Given the description of an element on the screen output the (x, y) to click on. 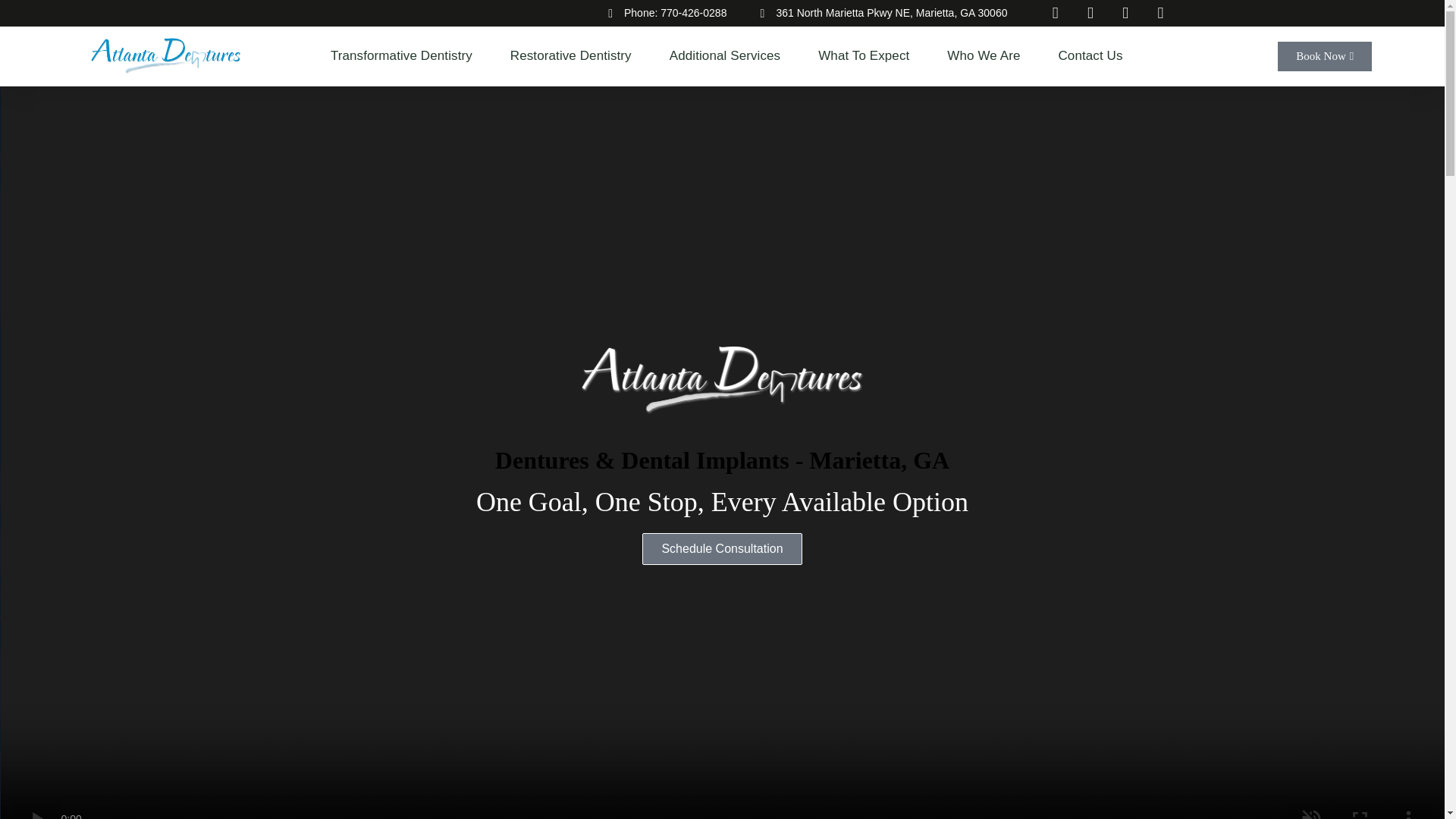
Transformative Dentistry (405, 55)
361 North Marietta Pkwy NE, Marietta, GA 30060 (878, 12)
Additional Services (728, 55)
Phone: 770-426-0288 (661, 12)
Who We Are (987, 55)
What To Expect (867, 55)
Restorative Dentistry (575, 55)
